Given the description of an element on the screen output the (x, y) to click on. 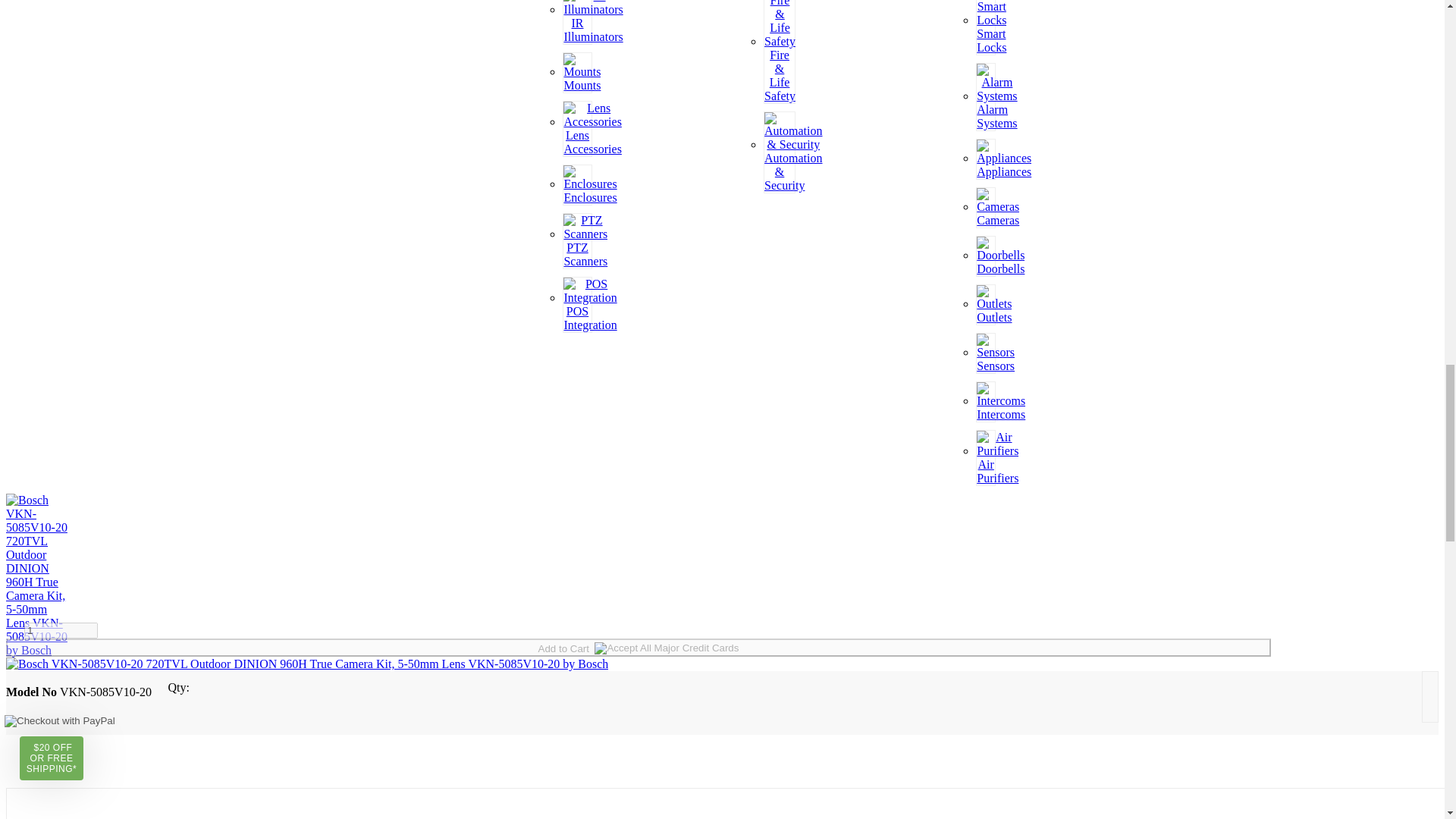
1 (60, 630)
